Given the description of an element on the screen output the (x, y) to click on. 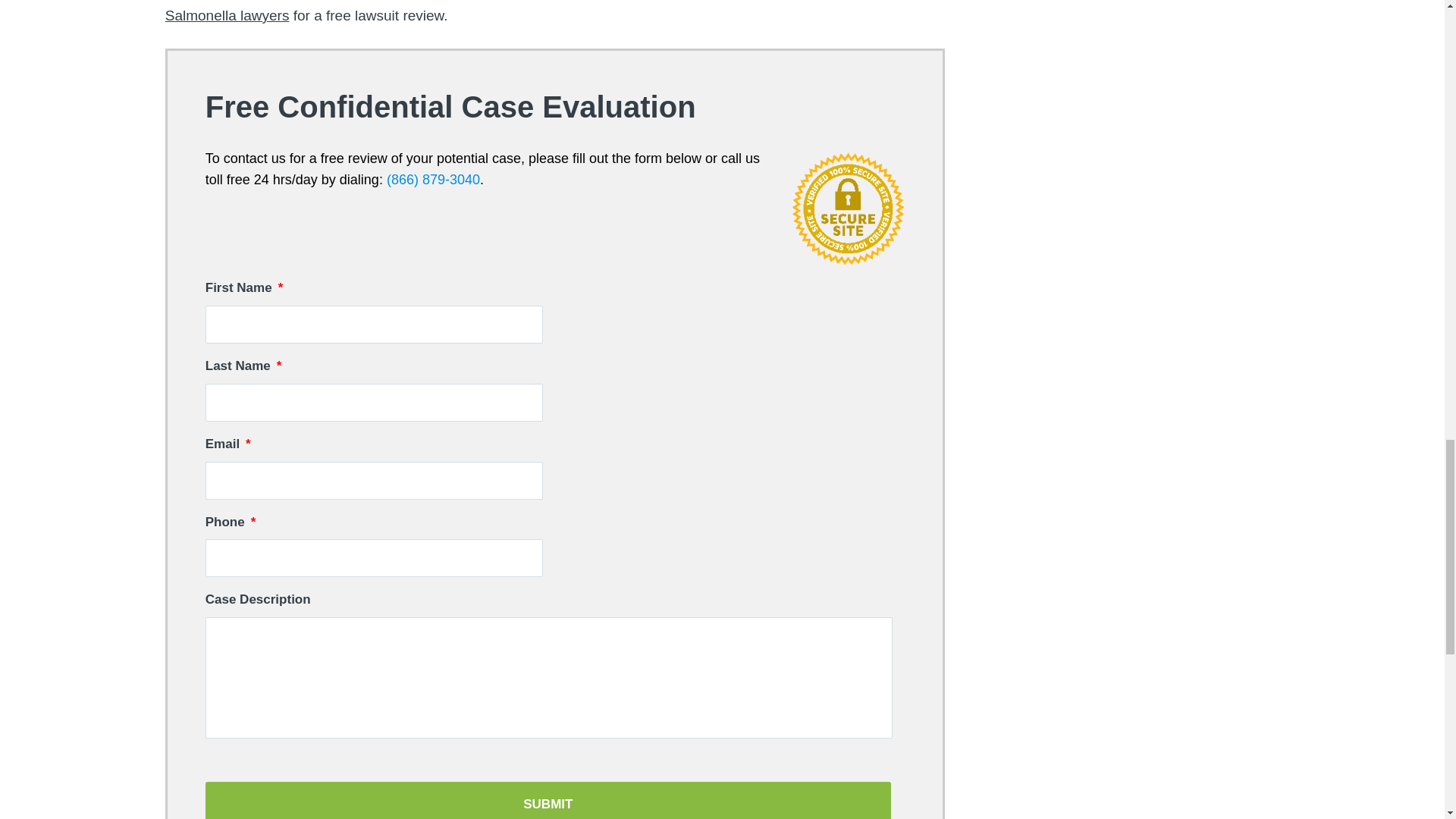
Submit (548, 800)
